Given the description of an element on the screen output the (x, y) to click on. 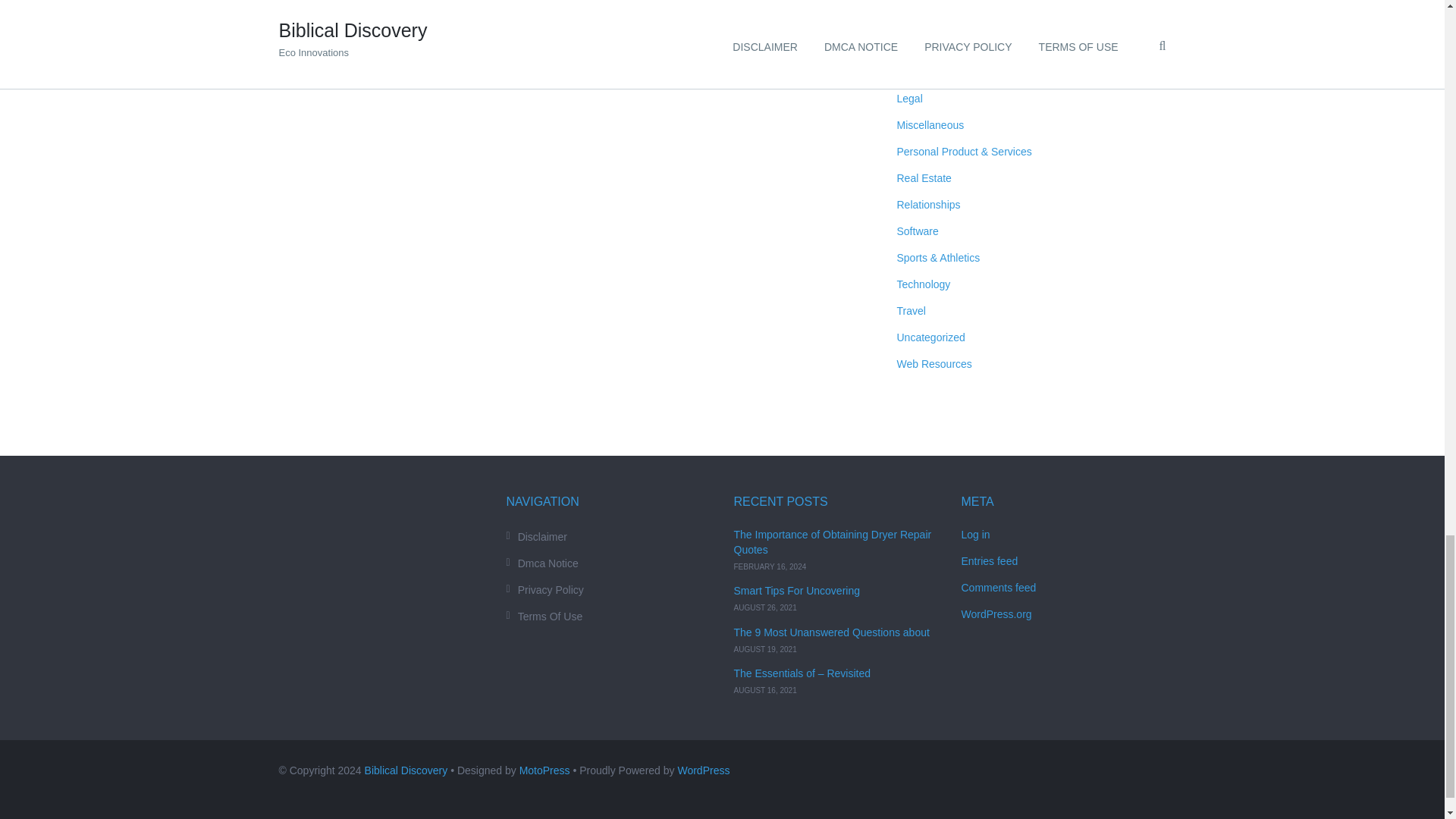
Biblical Discovery (406, 770)
Premium WordPress Plugins and Themes (544, 770)
Semantic Personal Publishing Platform (703, 770)
